Given the description of an element on the screen output the (x, y) to click on. 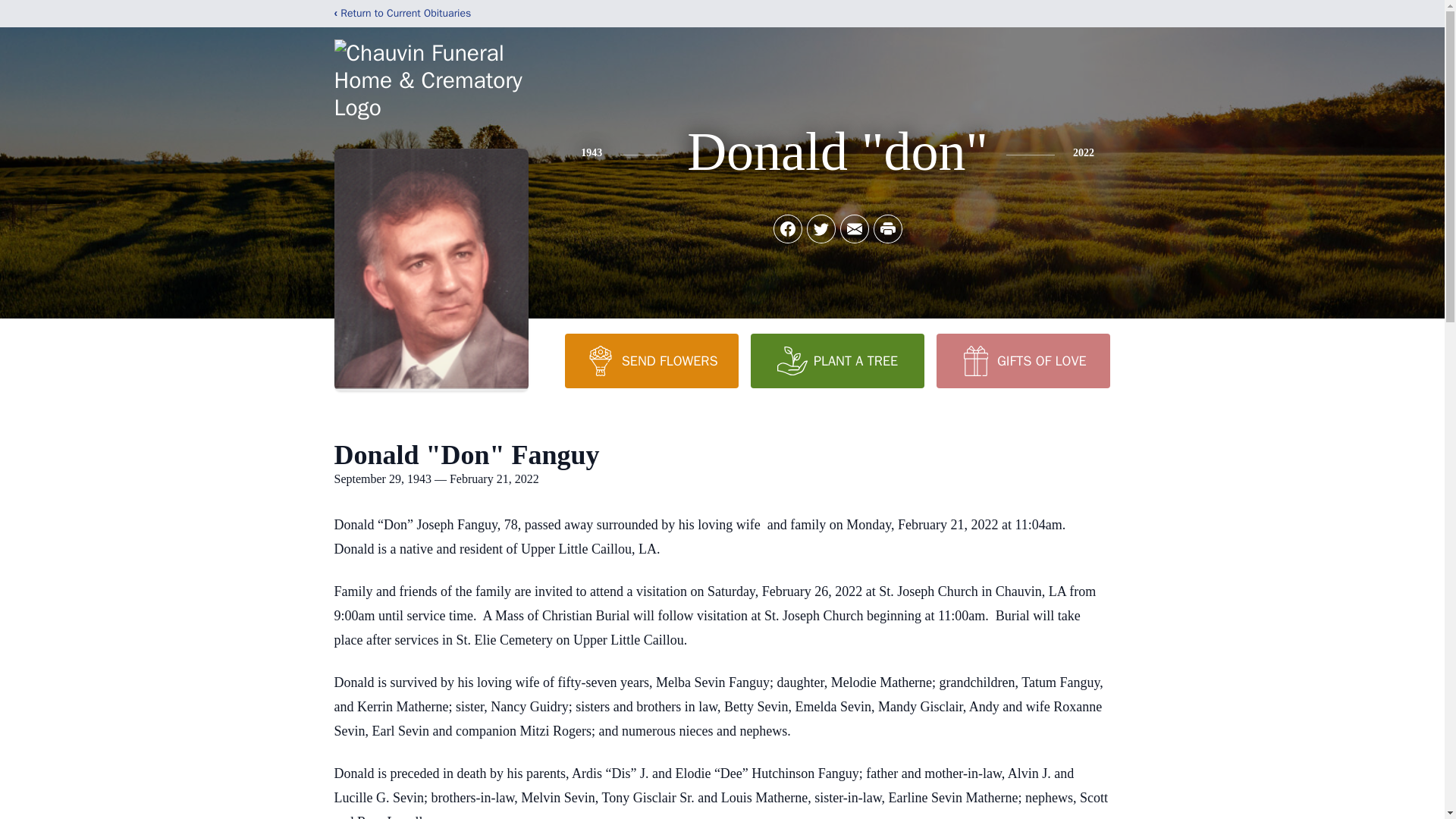
SEND FLOWERS (651, 360)
GIFTS OF LOVE (1022, 360)
PLANT A TREE (837, 360)
